Given the description of an element on the screen output the (x, y) to click on. 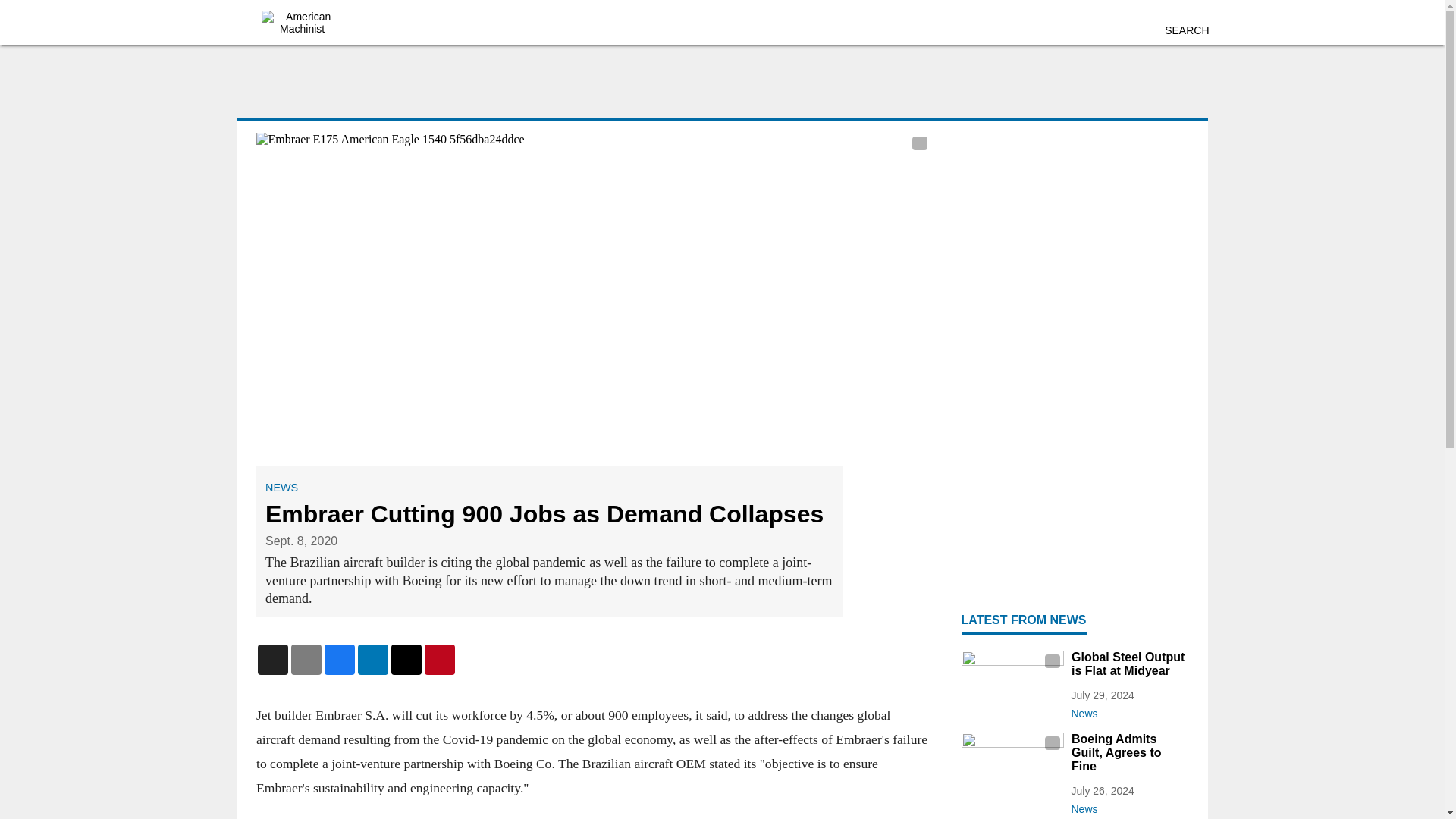
News (1129, 710)
Boeing Admits Guilt, Agrees to Fine (1129, 752)
News (1129, 805)
NEWS (281, 487)
Global Steel Output is Flat at Midyear (1129, 664)
SEARCH (1186, 30)
